Given the description of an element on the screen output the (x, y) to click on. 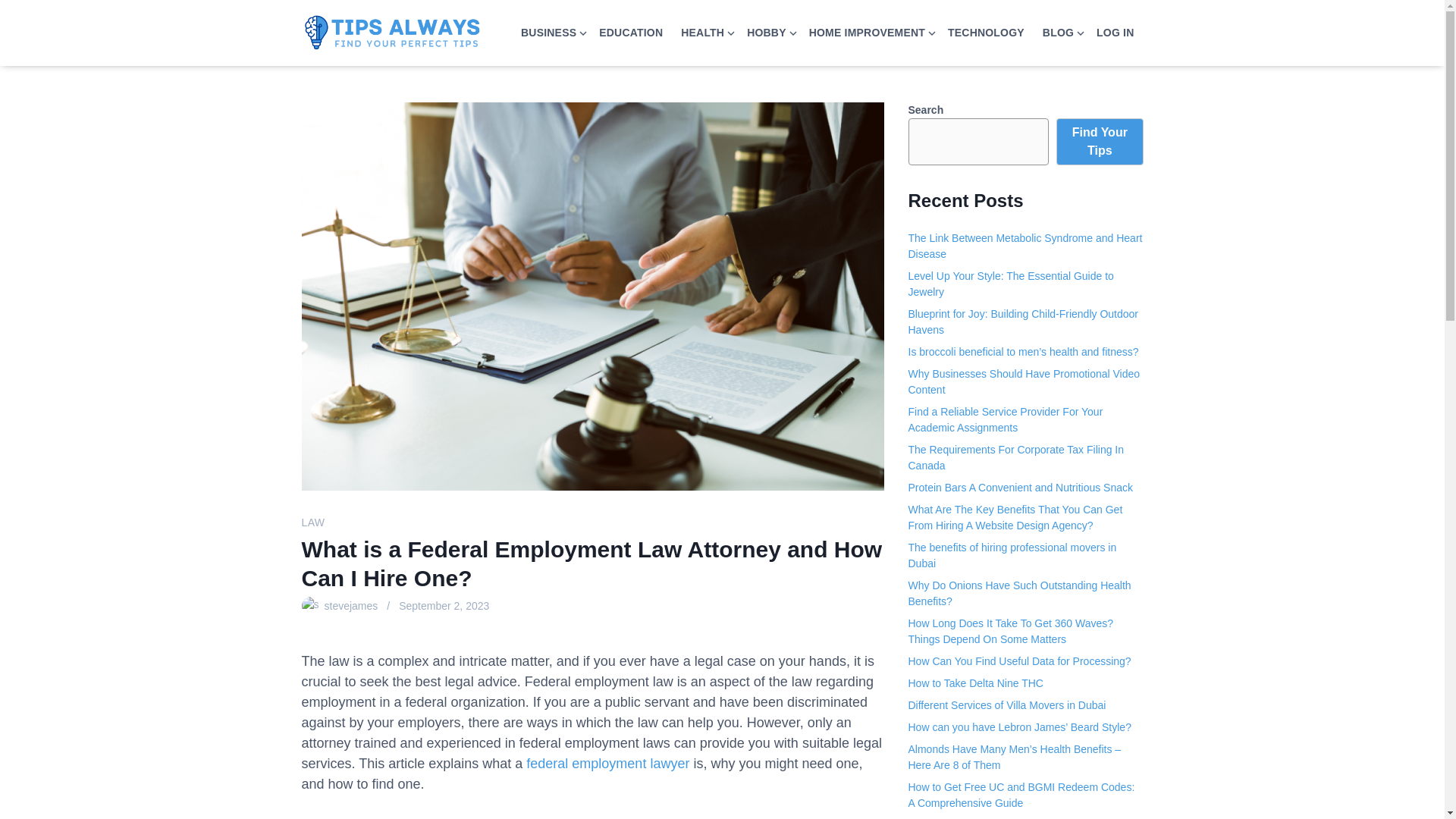
LOG IN (1114, 32)
HOME IMPROVEMENT (861, 32)
stevejames (351, 605)
LAW (312, 522)
HEALTH (697, 32)
HOBBY (762, 32)
federal employment lawyer (606, 763)
TECHNOLOGY (986, 32)
BUSINESS (544, 32)
EDUCATION (630, 32)
